Given the description of an element on the screen output the (x, y) to click on. 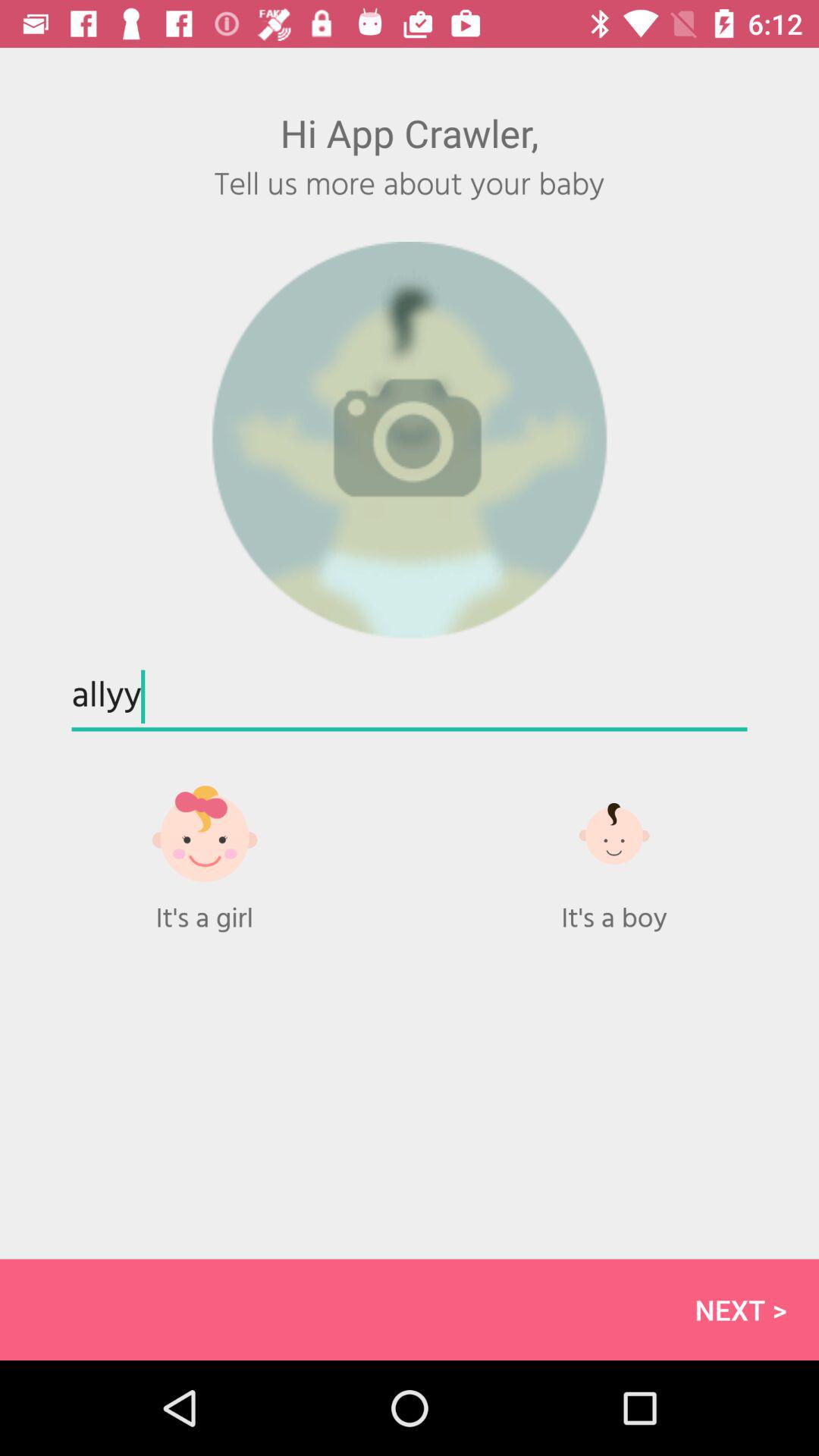
turn on the item below tell us more icon (409, 440)
